Given the description of an element on the screen output the (x, y) to click on. 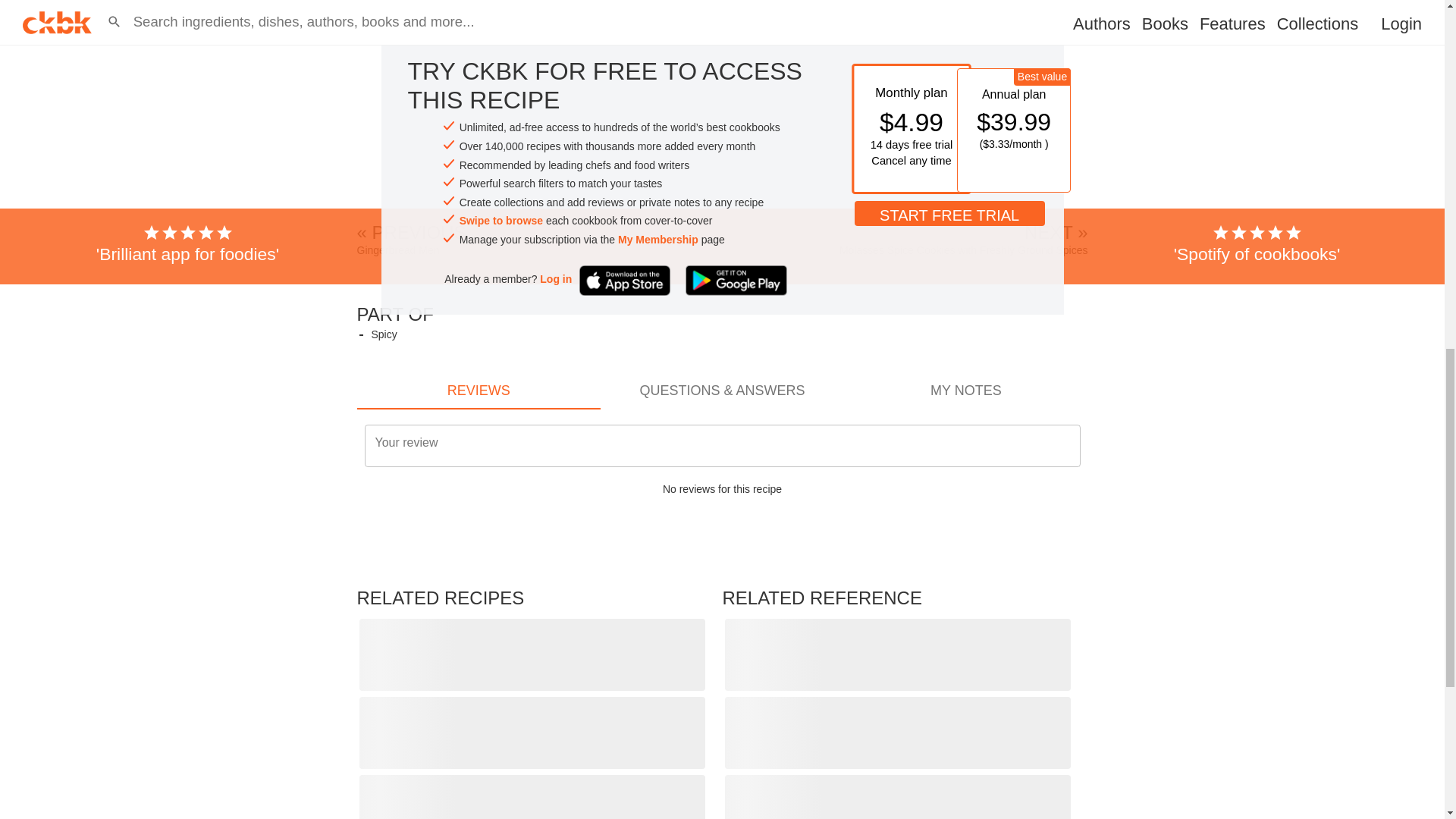
'Spotify of cookbooks' (1257, 137)
'Brilliant app for foodies' (188, 137)
Log in (556, 172)
My Membership (657, 132)
Swipe to browse (501, 113)
START FREE TRIAL (949, 105)
